Given the description of an element on the screen output the (x, y) to click on. 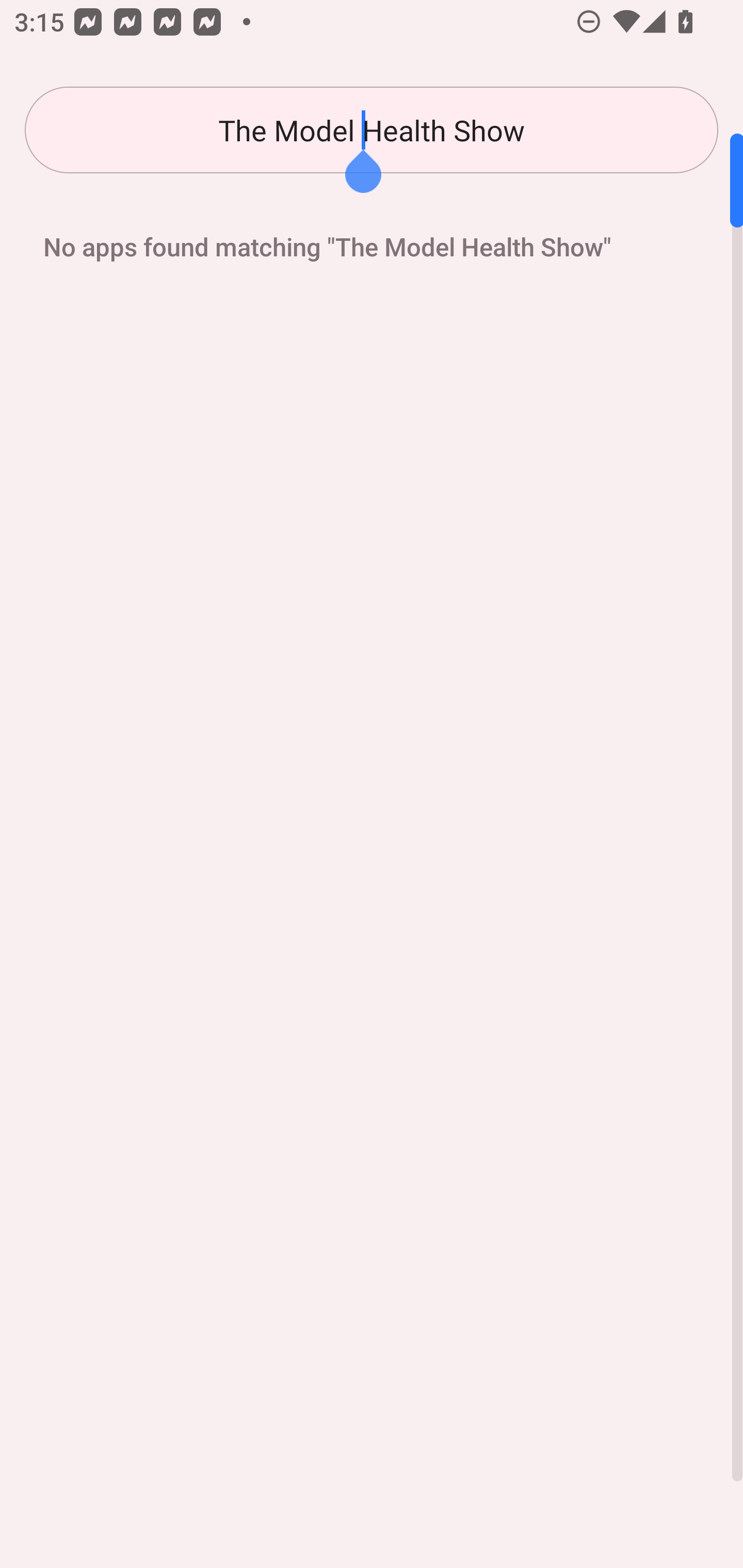
The Model Health Show (371, 130)
